Given the description of an element on the screen output the (x, y) to click on. 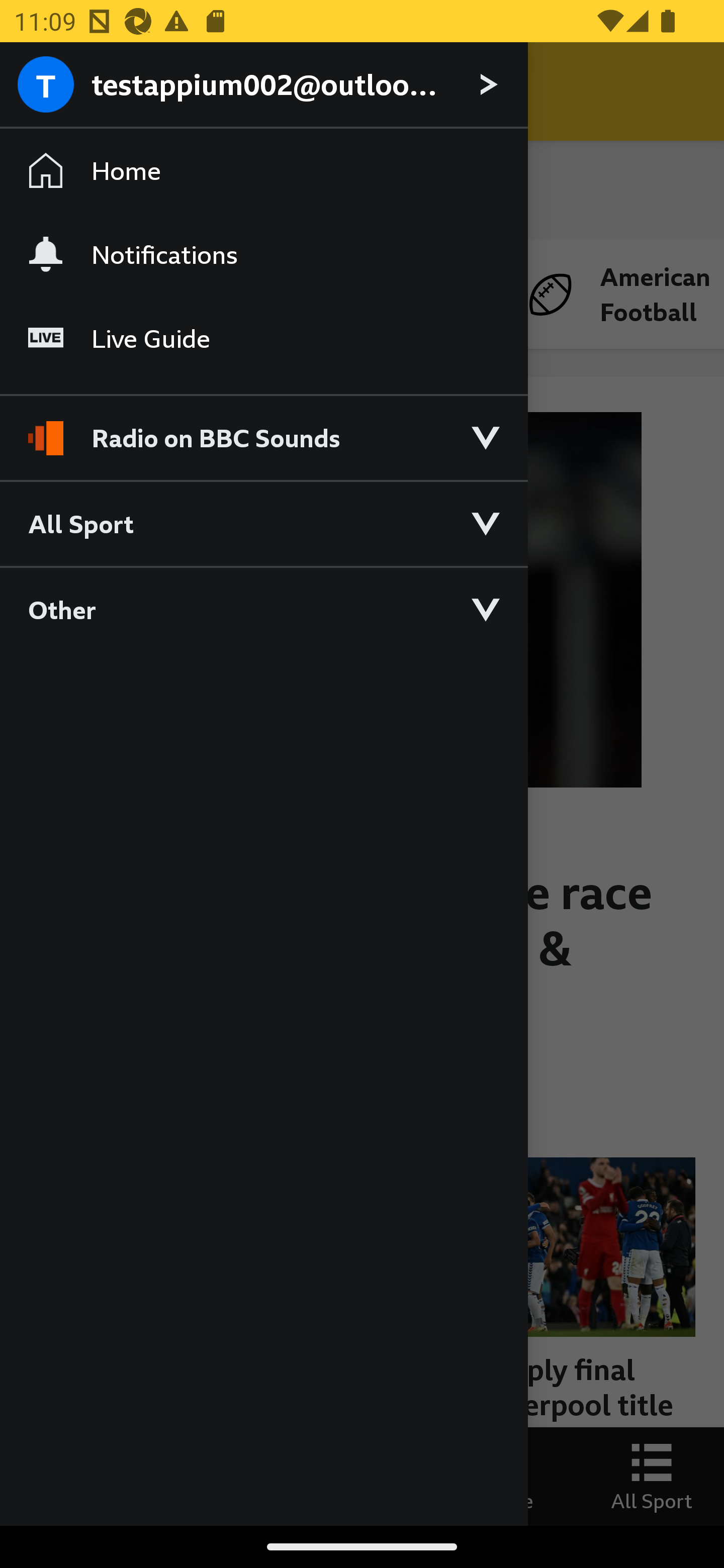
testappium002@outlook.com (263, 85)
Home (263, 170)
Notifications (263, 253)
Live Guide (263, 338)
Radio on BBC Sounds (263, 429)
All Sport (263, 522)
Other (263, 609)
